Given the description of an element on the screen output the (x, y) to click on. 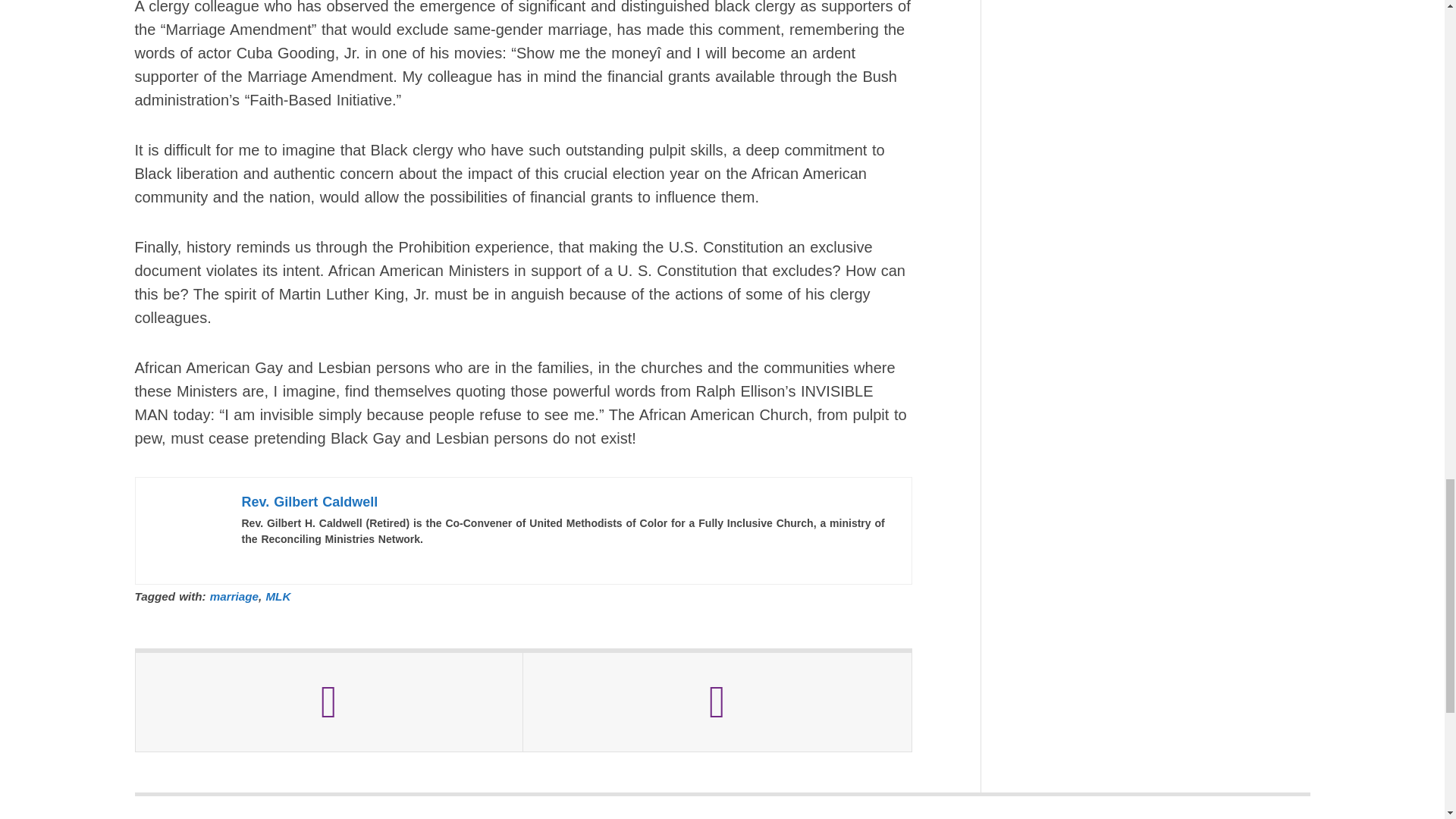
marriage (234, 595)
What Would Martin Do? 1 (187, 530)
Rev. Gilbert Caldwell (309, 501)
MLK (276, 595)
Previous Post (328, 701)
Next Post (716, 701)
